Given the description of an element on the screen output the (x, y) to click on. 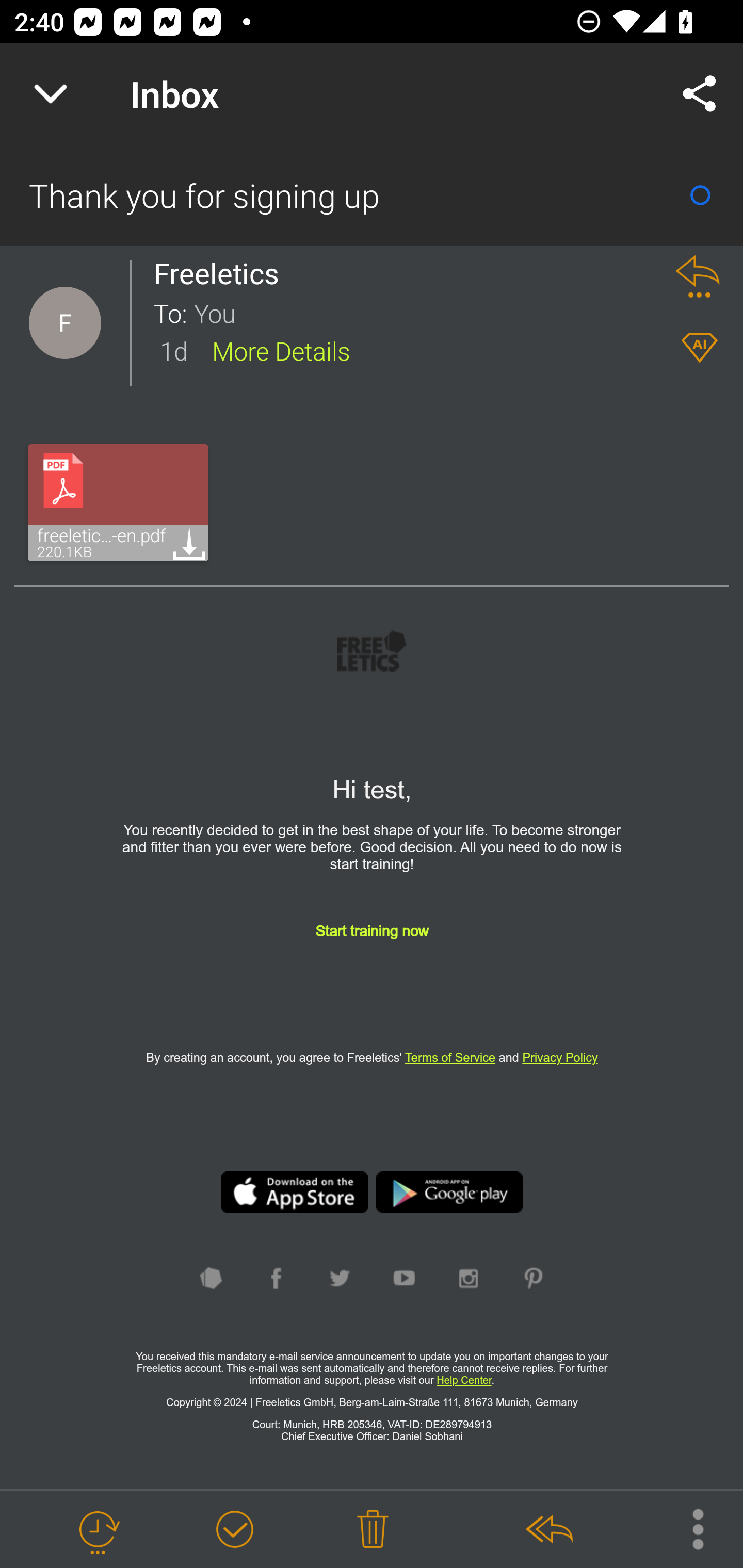
Navigate up (50, 93)
Share (699, 93)
Mark as Read (699, 194)
Freeletics (221, 273)
Contact Details (64, 322)
More Details (280, 349)
Tap to download freeletics-terms-en.pdf 220.1KB (118, 502)
Start training now (372, 946)
Terms of Service (450, 1057)
Privacy Policy (560, 1057)
Download on App Store (294, 1192)
Download on Google Play (449, 1192)
Help Center (463, 1380)
More Options (687, 1528)
Snooze (97, 1529)
Mark as Done (234, 1529)
Delete (372, 1529)
Reply All (548, 1529)
